Given the description of an element on the screen output the (x, y) to click on. 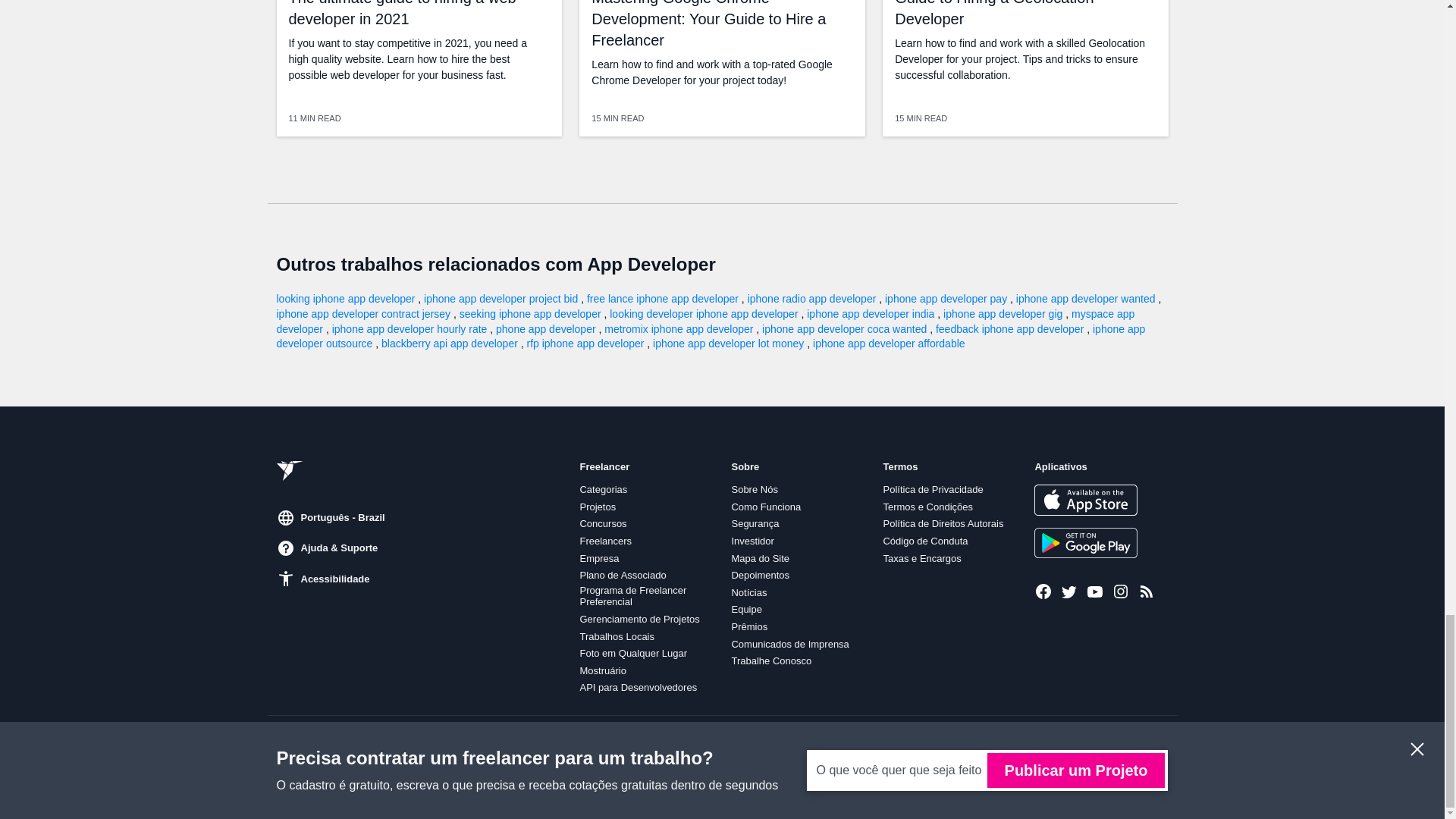
Freelancer no Facebook (1042, 591)
Obter no Google Play (1085, 542)
Baixar da App Store (1085, 499)
Freelancer no Instagram (1120, 591)
Projetos mais Recentes (1146, 591)
Freelancer no Youtube (1094, 591)
Freelancer no Twitter (1068, 591)
